Given the description of an element on the screen output the (x, y) to click on. 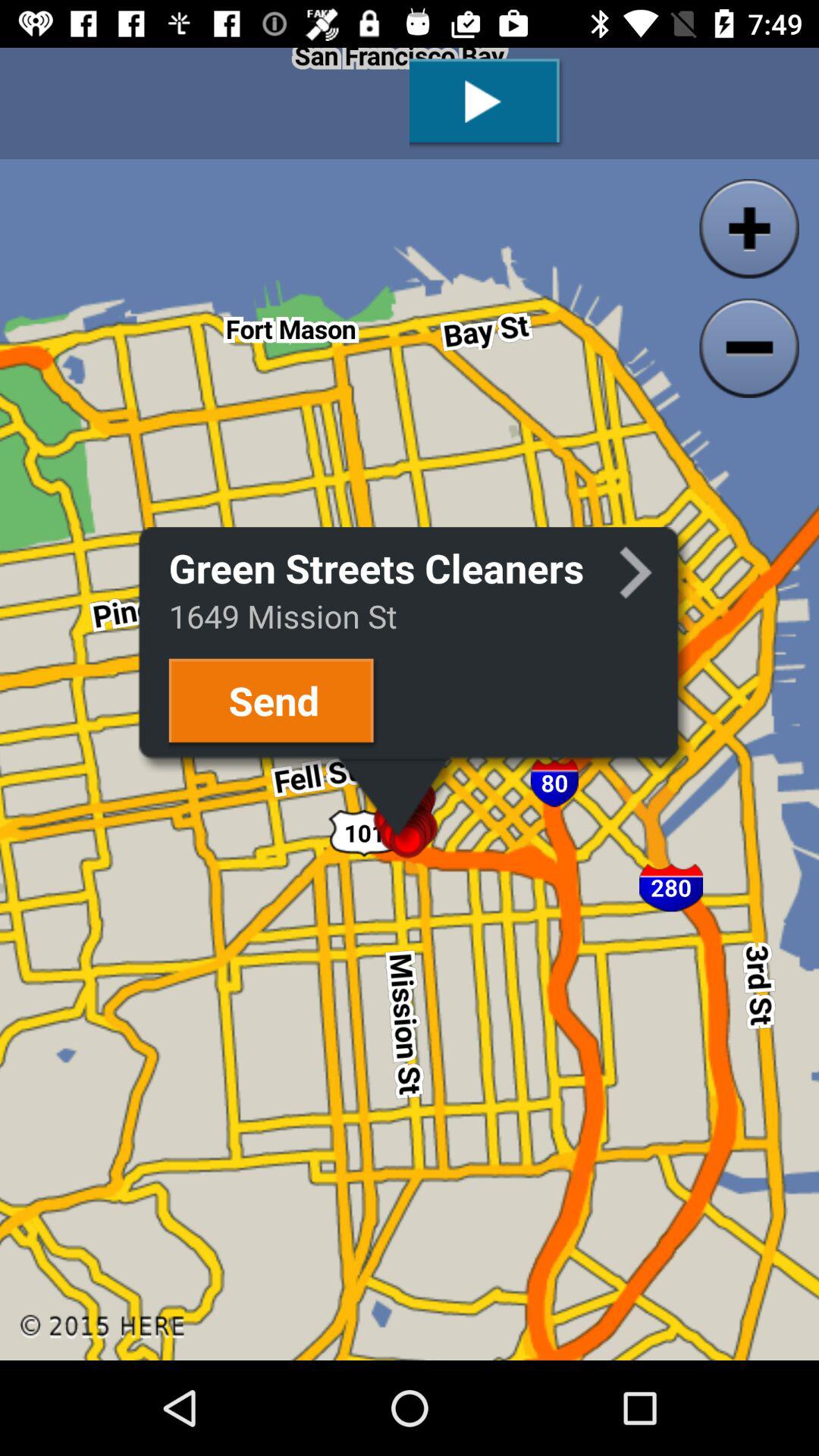
tap item above the green streets cleaners icon (486, 103)
